Given the description of an element on the screen output the (x, y) to click on. 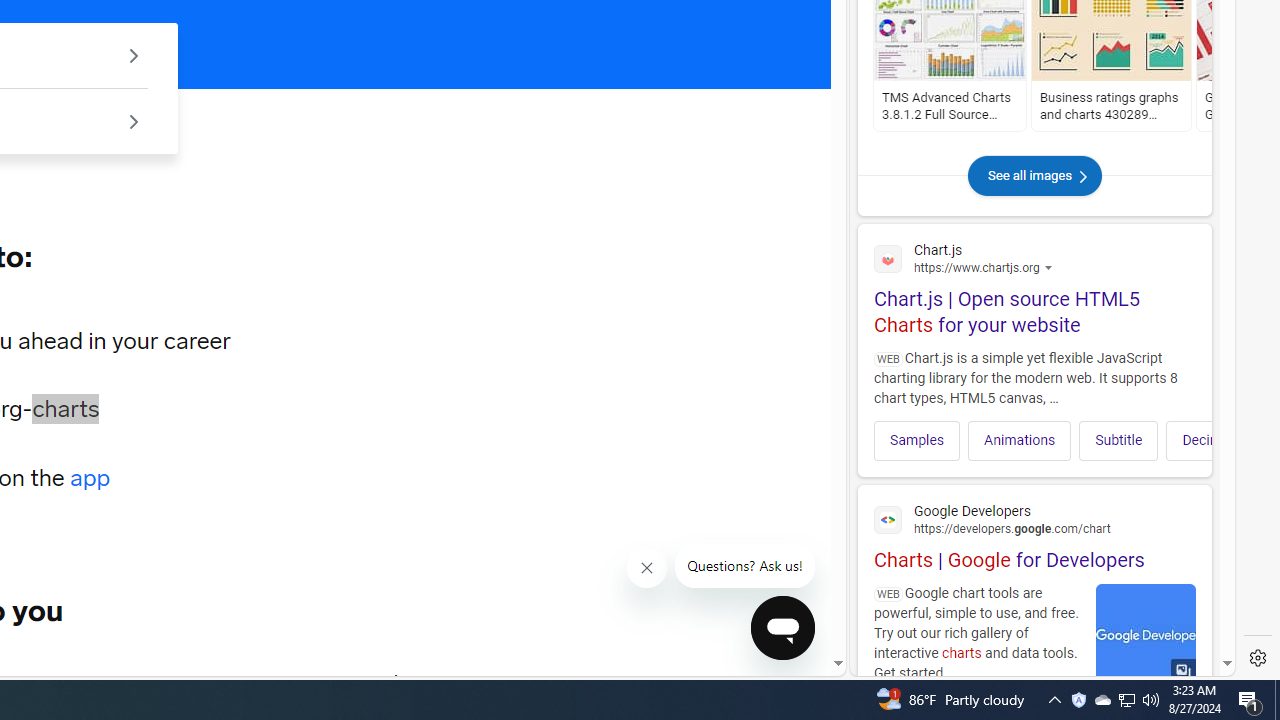
Close message from company (647, 567)
Samples (917, 440)
Actions for this site (1099, 268)
Click to scroll right (1183, 440)
app (90, 477)
Open messaging window (783, 628)
SamplesAnimationsSubtitleDecimation PluginBubbleDocs (1034, 434)
Chart.js (1034, 257)
Chart.js | Open source HTML5 Charts for your website (1034, 286)
Forward (398, 682)
Questions? Ask us! (745, 566)
Animations (1020, 440)
Animations (1019, 440)
